Given the description of an element on the screen output the (x, y) to click on. 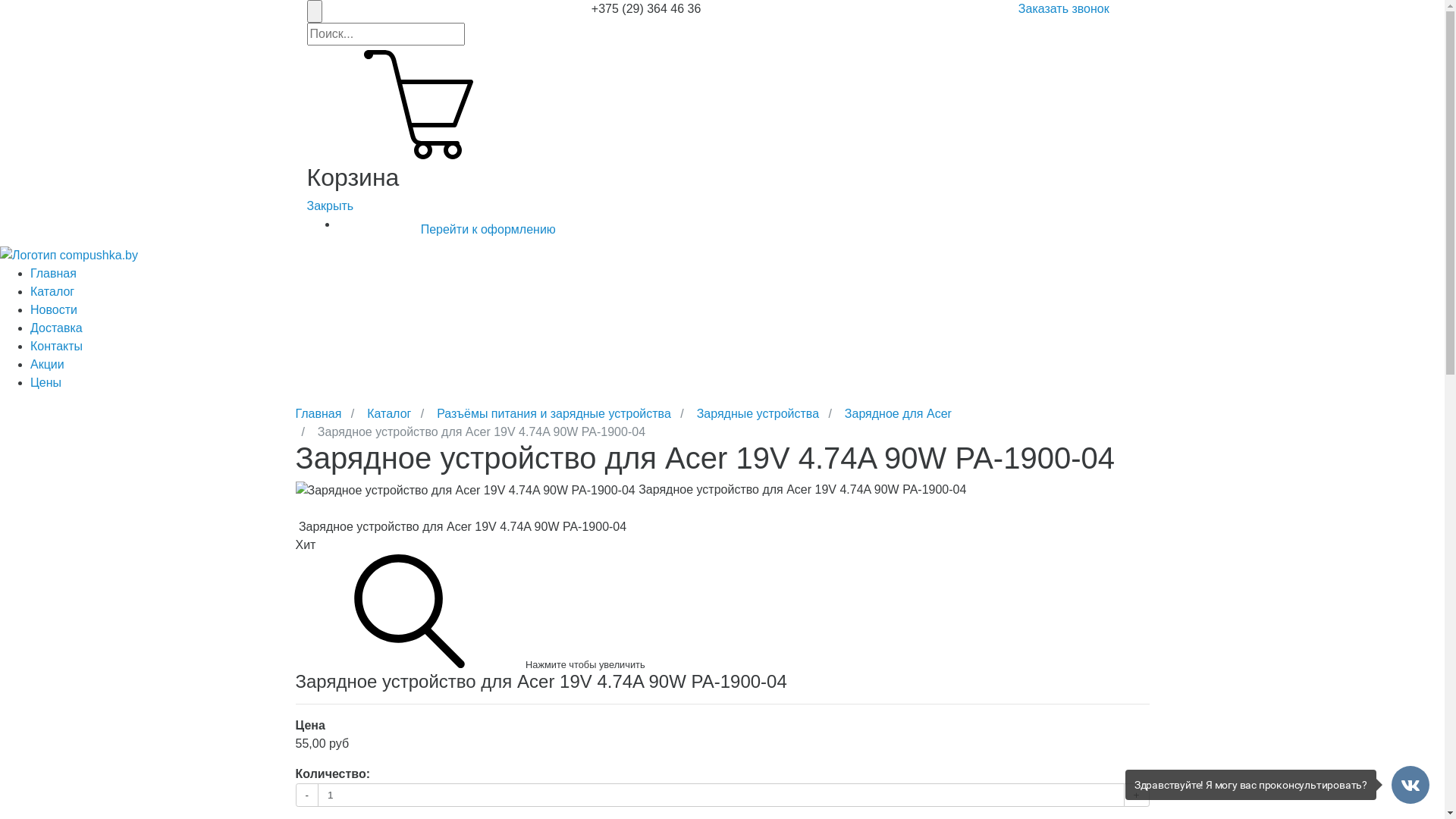
+ Element type: text (1136, 794)
- Element type: text (307, 794)
